Given the description of an element on the screen output the (x, y) to click on. 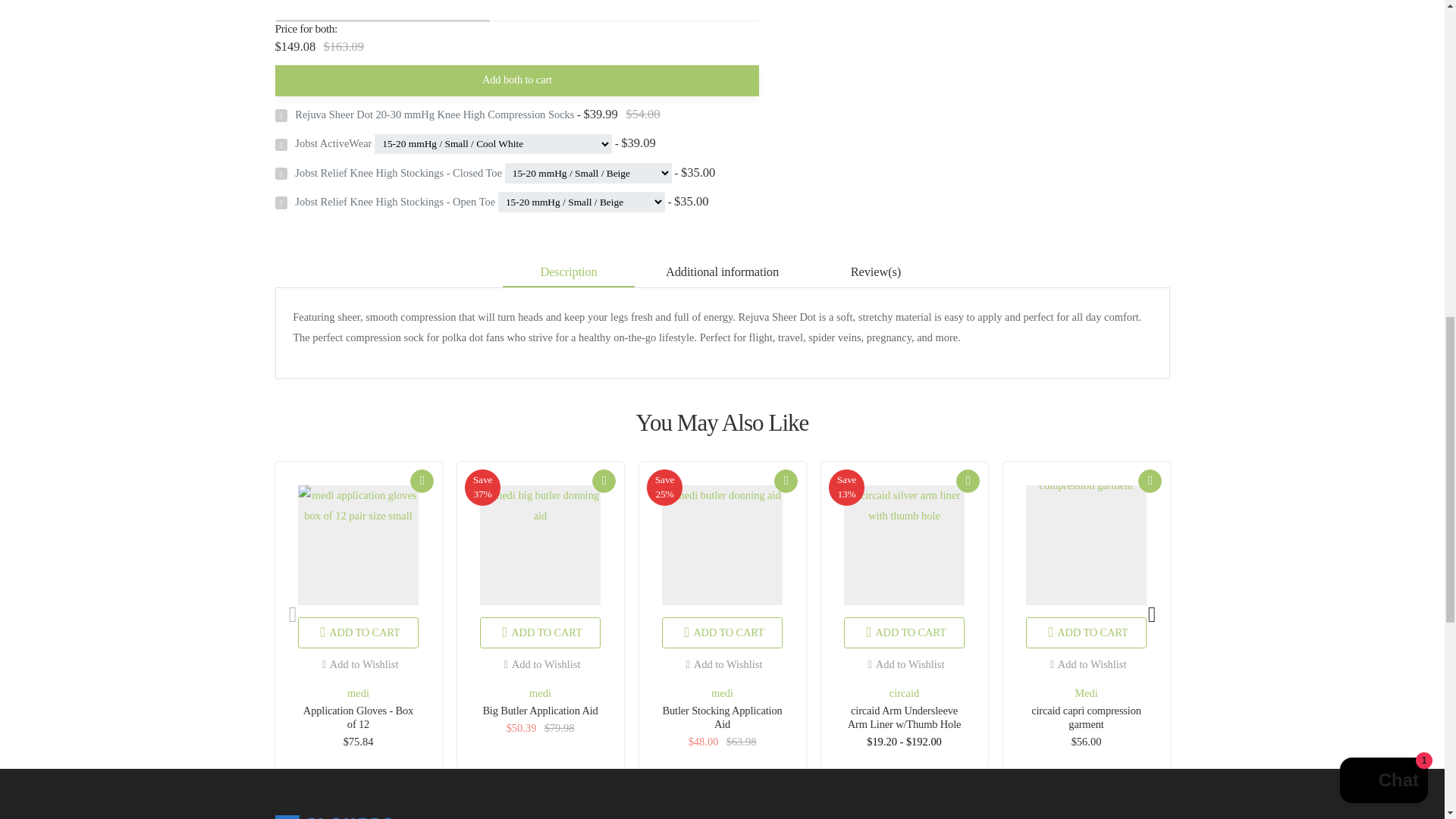
1 (986, 778)
